Given the description of an element on the screen output the (x, y) to click on. 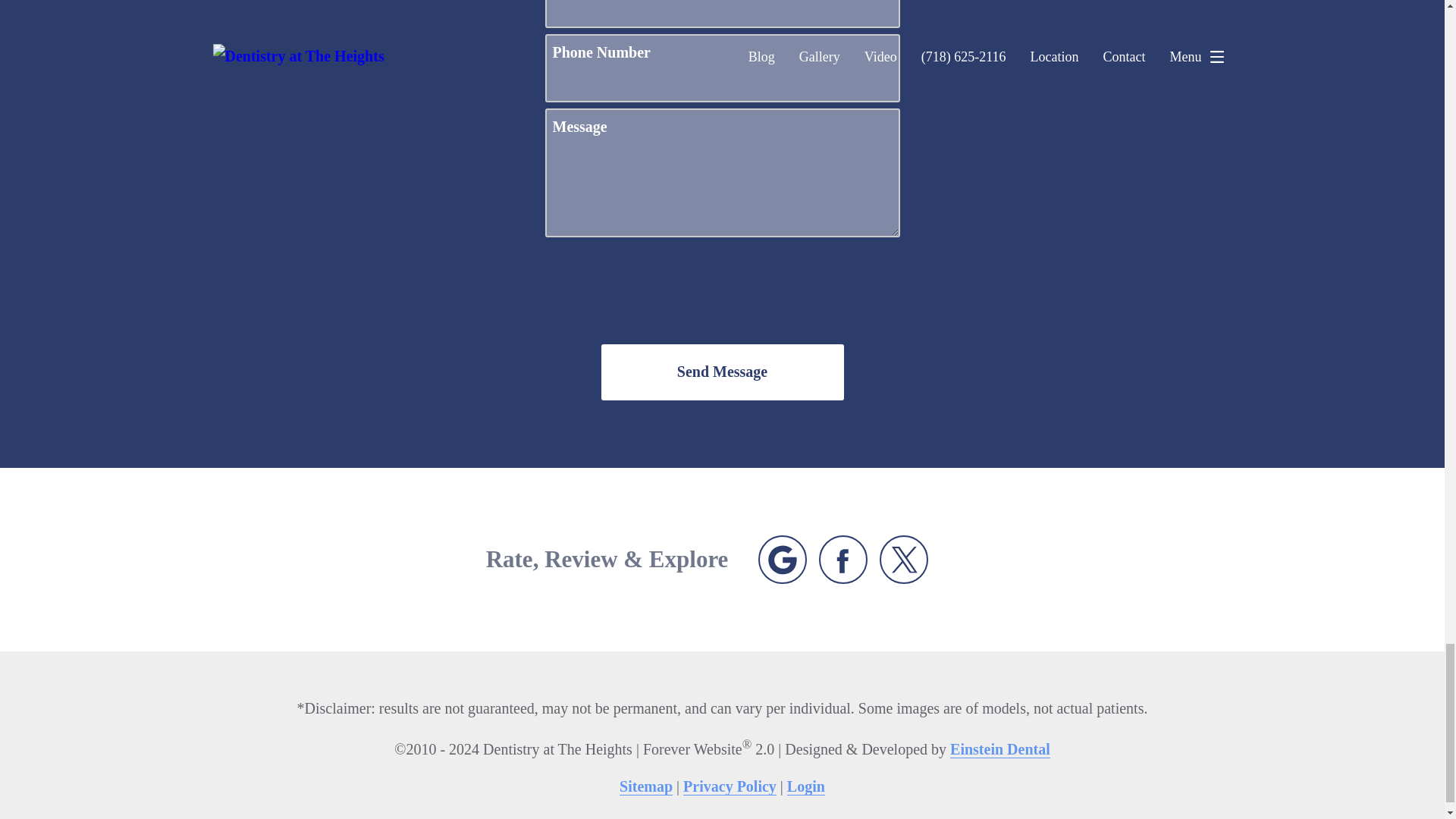
Send Message (721, 371)
Sitemap (646, 786)
Privacy Policy (729, 786)
Google (782, 559)
Facebook (842, 559)
Einstein Dental (999, 749)
Login (806, 786)
Twitter (903, 559)
